Given the description of an element on the screen output the (x, y) to click on. 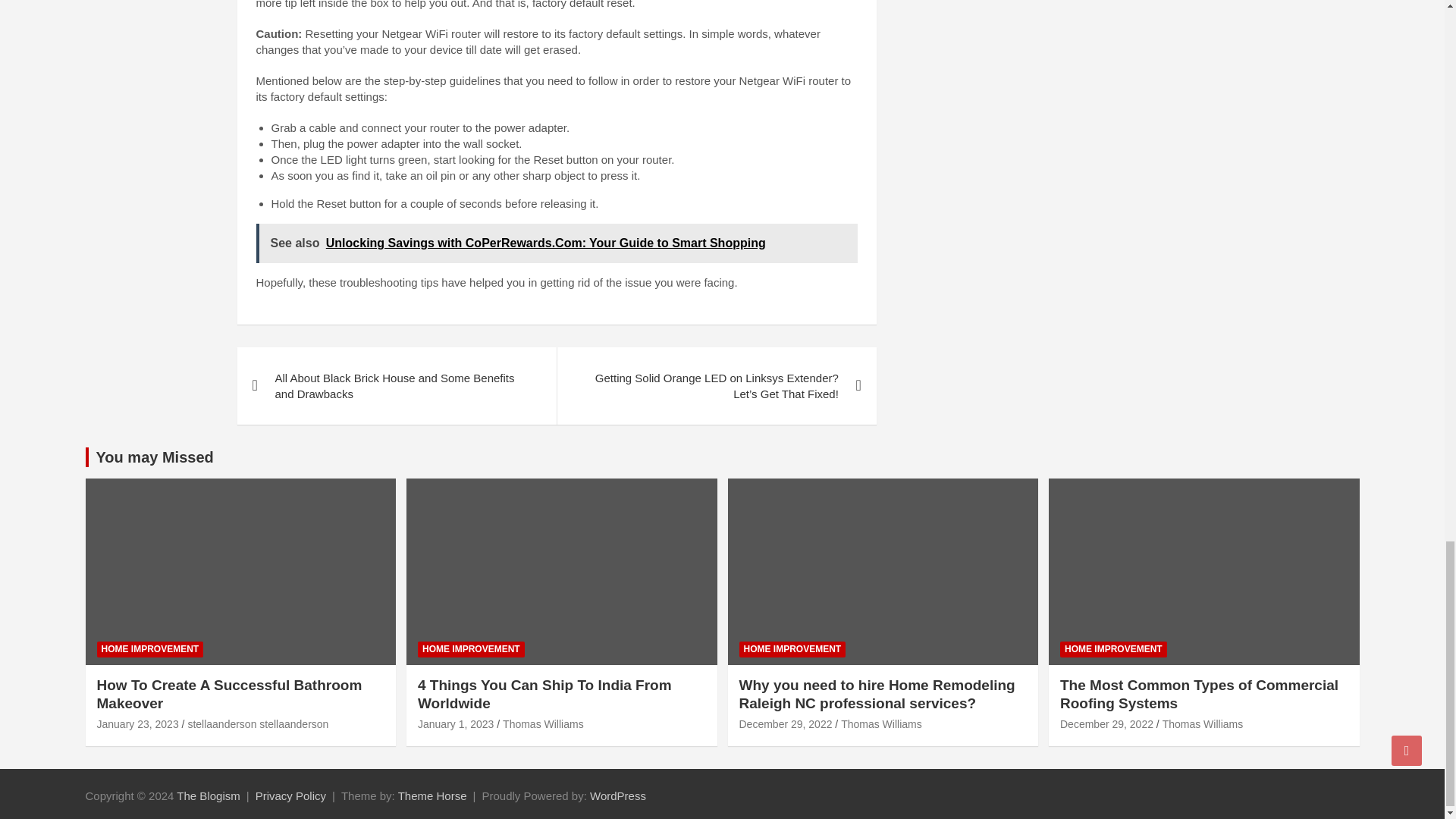
4 Things You Can Ship To India From Worldwide (455, 724)
WordPress (617, 795)
How To Create A Successful Bathroom Makeover (138, 724)
The Blogism (208, 795)
The Most Common Types of Commercial Roofing Systems (1106, 724)
Theme Horse (432, 795)
